Given the description of an element on the screen output the (x, y) to click on. 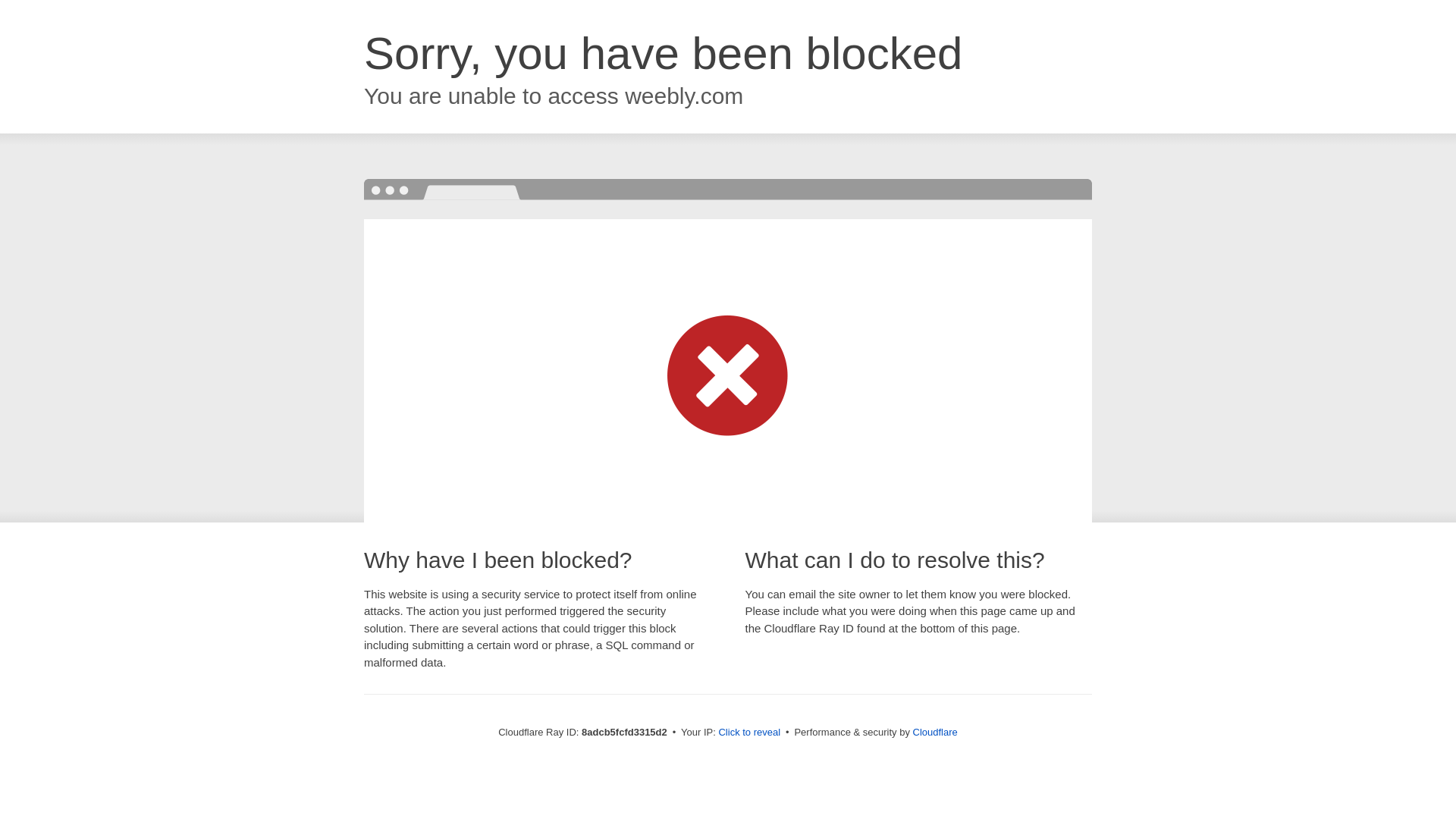
Click to reveal (748, 732)
Cloudflare (935, 731)
